Given the description of an element on the screen output the (x, y) to click on. 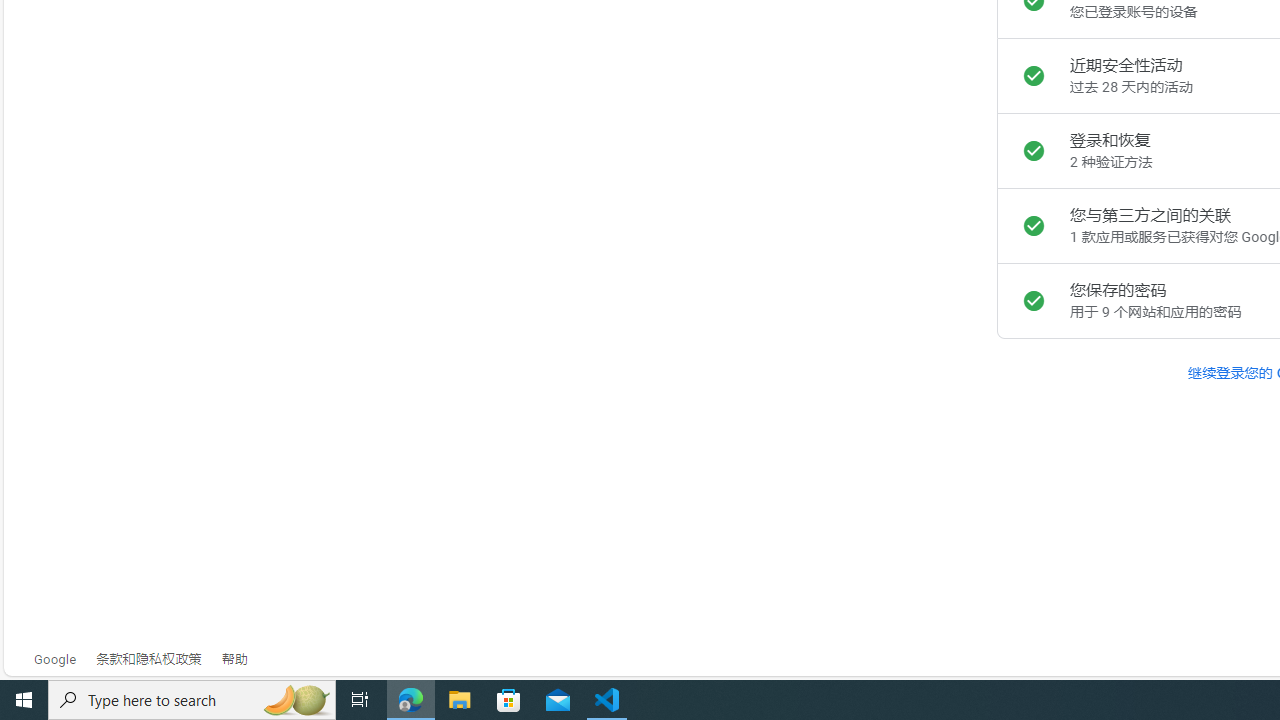
Task View (359, 699)
File Explorer (460, 699)
Start (24, 699)
Microsoft Store (509, 699)
Search highlights icon opens search home window (295, 699)
Type here to search (191, 699)
Microsoft Edge - 1 running window (411, 699)
Visual Studio Code - 1 running window (607, 699)
